Given the description of an element on the screen output the (x, y) to click on. 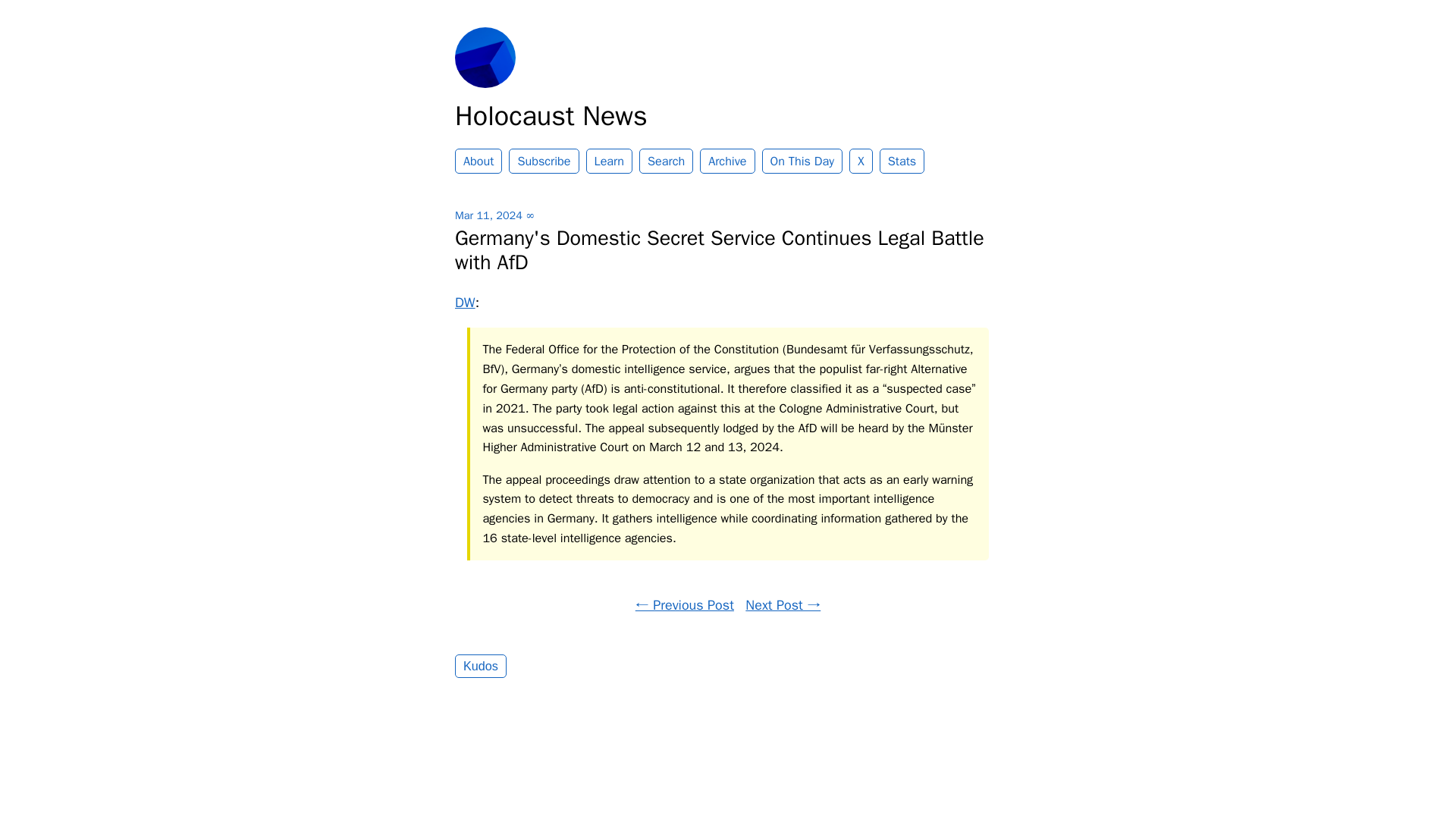
About (478, 160)
DW (465, 302)
